Given the description of an element on the screen output the (x, y) to click on. 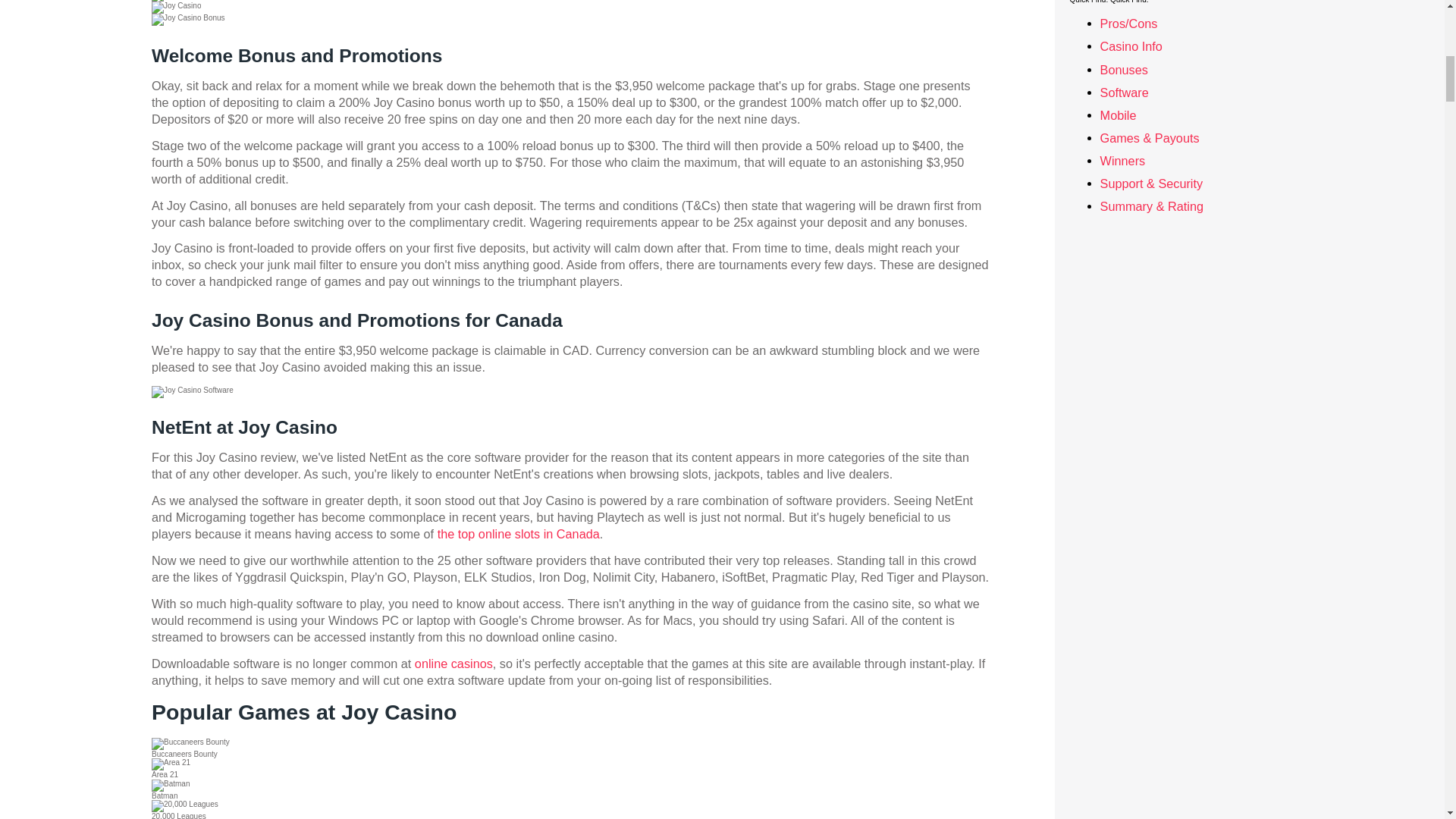
Winners (1122, 160)
Bonuses (1124, 69)
Casino Info (1130, 46)
Mobile (1118, 115)
Software (1124, 92)
